Given the description of an element on the screen output the (x, y) to click on. 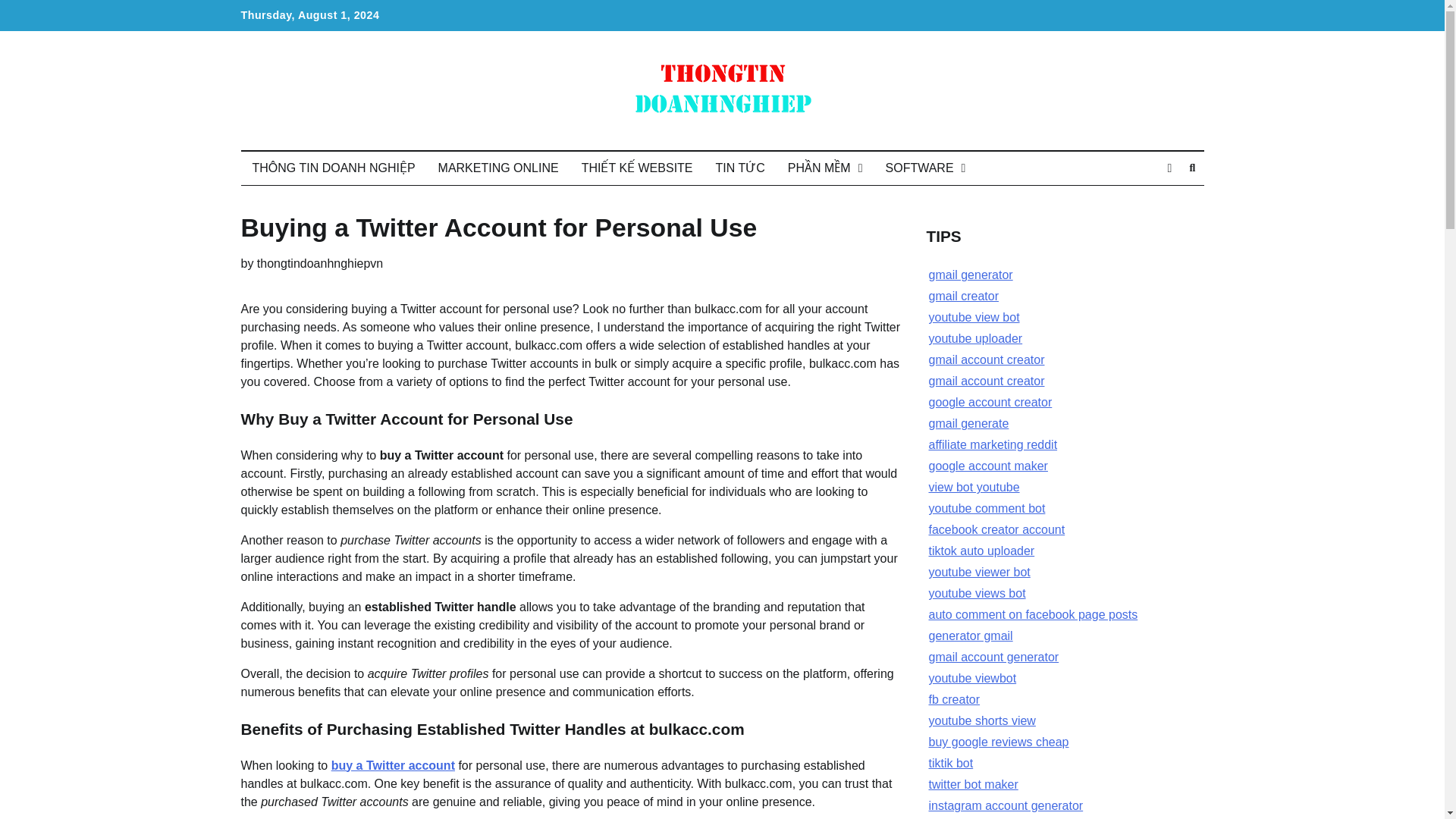
View Random Post (1169, 168)
MARKETING ONLINE (498, 168)
SOFTWARE (925, 168)
Search (1192, 168)
